Given the description of an element on the screen output the (x, y) to click on. 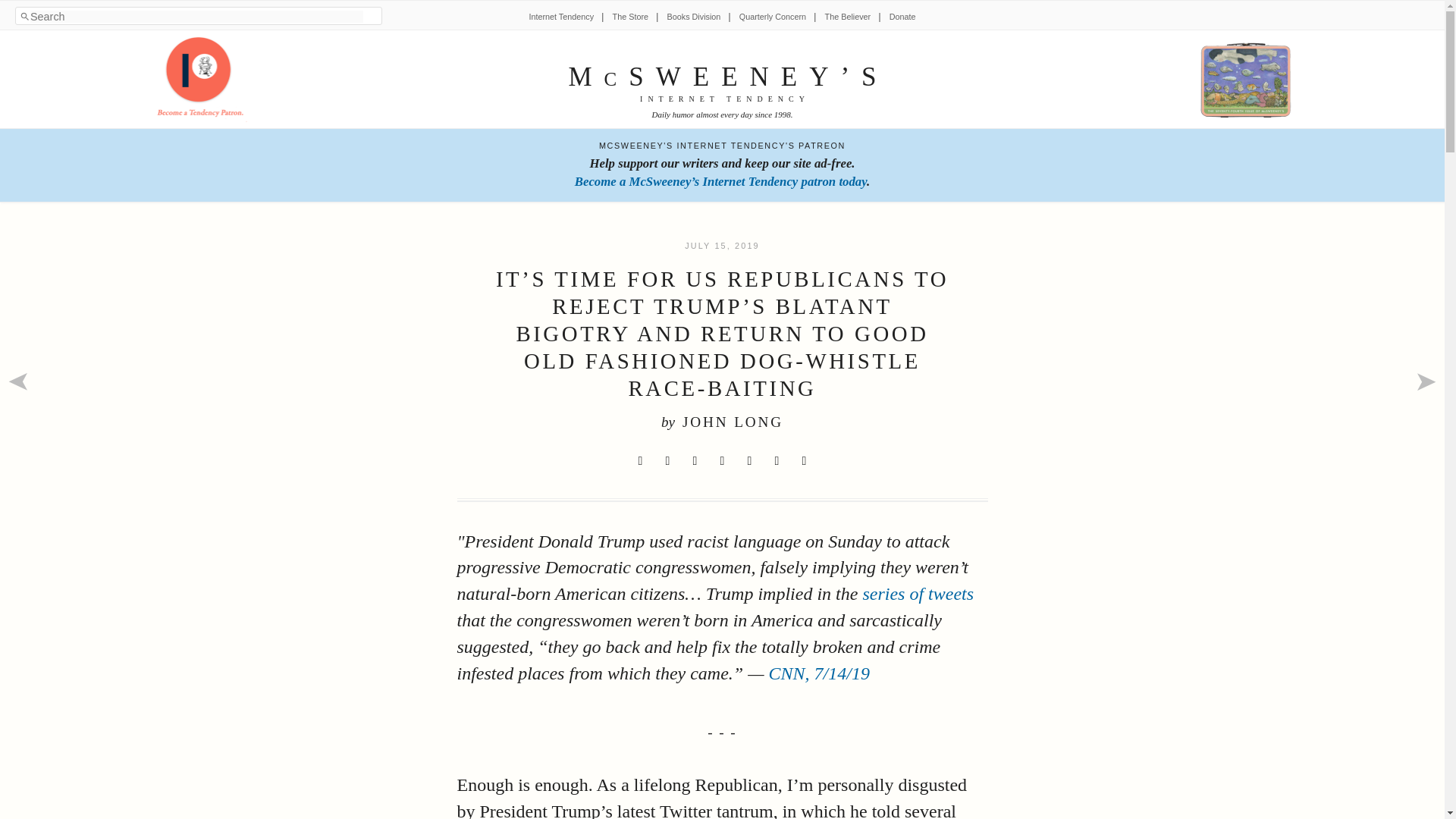
Share to Reddit (695, 460)
Share to Bluesky (722, 460)
Share to Threads (749, 460)
JOHN LONG (732, 421)
Books Division (693, 16)
series of tweets (917, 593)
Quarterly Concern (772, 16)
The Believer (847, 16)
Search Field (196, 16)
Share to Facebook (667, 460)
